Given the description of an element on the screen output the (x, y) to click on. 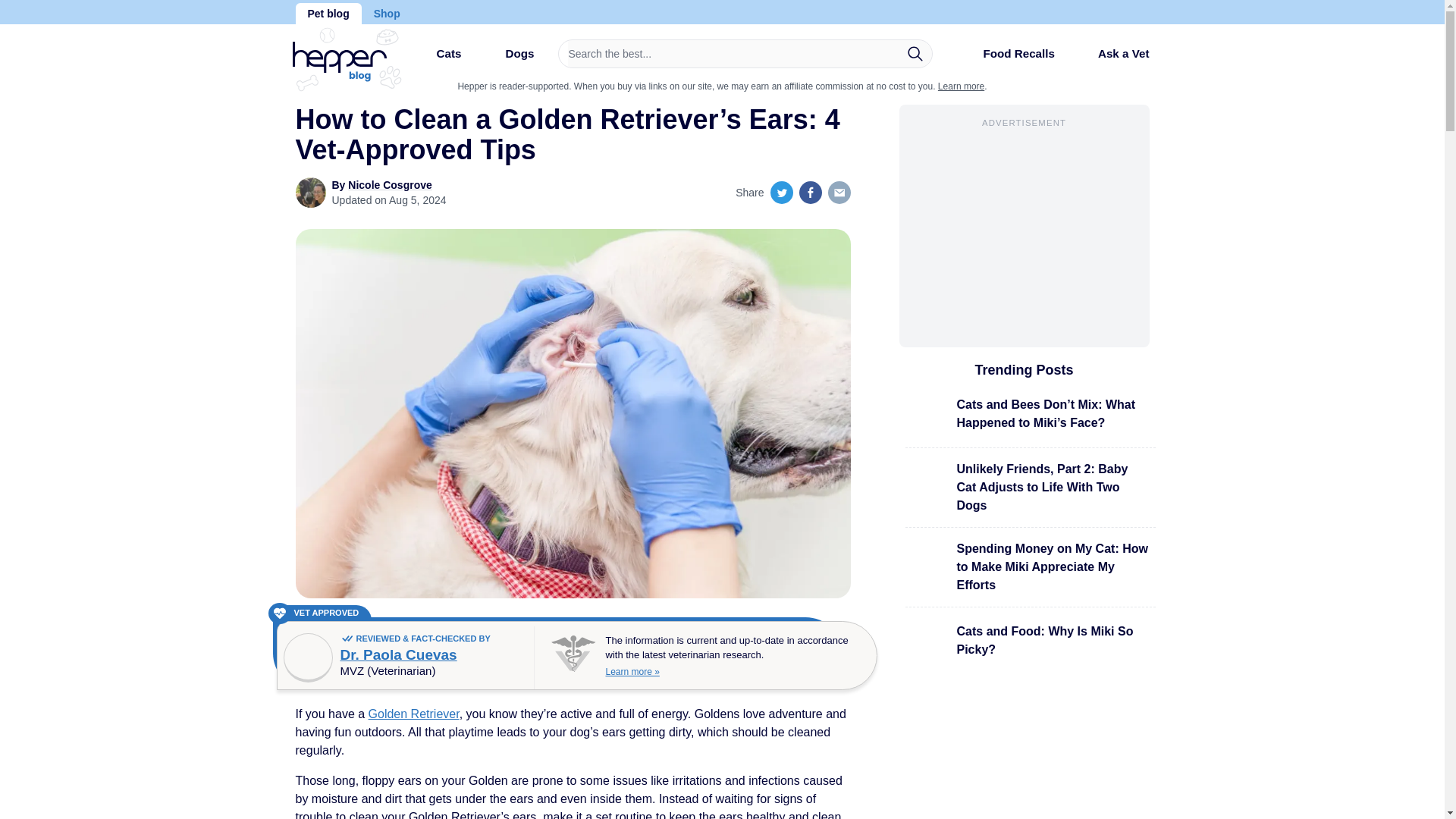
Shop (387, 13)
Learn more (960, 86)
Dr. Paola Cuevas (398, 654)
Cats (435, 59)
Nicole Cosgrove (388, 184)
Dogs (506, 59)
Ask a Vet (1111, 53)
Golden Retriever (414, 713)
Food Recalls (1005, 59)
Vet photo (308, 657)
